Given the description of an element on the screen output the (x, y) to click on. 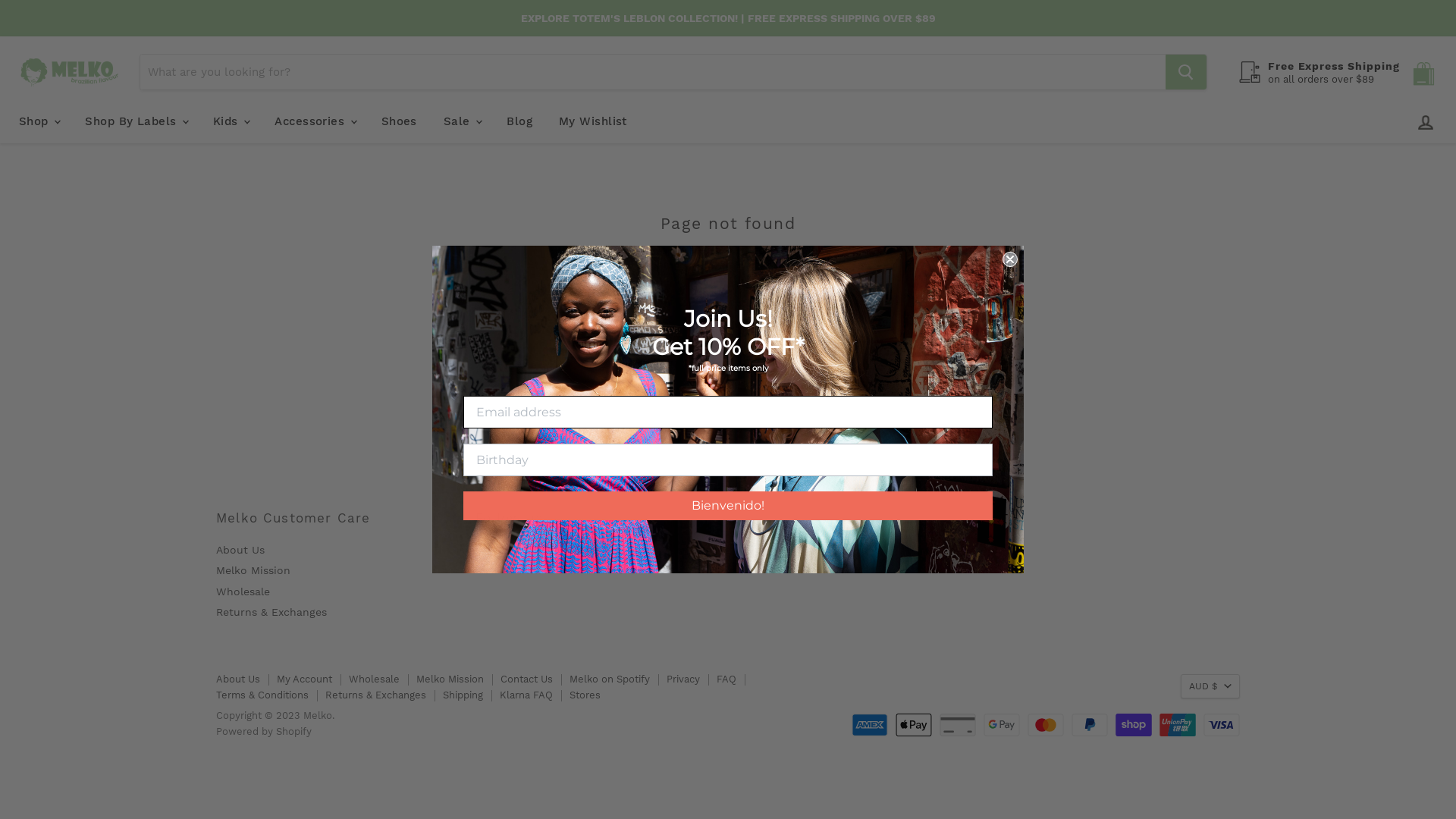
Find us on Instagram Element type: text (540, 547)
Wholesale Element type: text (242, 591)
Melko Mission Element type: text (253, 570)
Sale Element type: text (461, 121)
Submit Element type: text (25, 9)
My Account Element type: text (304, 678)
Returns & Exchanges Element type: text (271, 611)
Wholesale Element type: text (373, 678)
Shop By Labels Element type: text (135, 121)
About Us Element type: text (238, 678)
Terms & Conditions Element type: text (262, 694)
Returns & Exchanges Element type: text (375, 694)
Find us on LinkedIn Element type: text (594, 547)
Contact Us Element type: text (526, 678)
Stores Element type: text (584, 694)
Kids Element type: text (230, 121)
Find us on Pinterest Element type: text (513, 547)
Shoes Element type: text (399, 121)
About Us Element type: text (240, 549)
AUD $ Element type: text (1209, 686)
Powered by Shopify Element type: text (263, 731)
Shop Element type: text (38, 121)
Continue Shopping Element type: text (727, 295)
Klarna FAQ Element type: text (525, 694)
Find us on Vimeo Element type: text (567, 547)
FAQ Element type: text (726, 678)
Find us on Facebook Element type: text (485, 547)
Accessories Element type: text (314, 121)
Bienvenido! Element type: text (727, 505)
Blog Element type: text (519, 121)
Melko Mission Element type: text (449, 678)
Melko on Spotify Element type: text (609, 678)
Privacy Element type: text (682, 678)
My Wishlist Element type: text (592, 121)
Shipping Element type: text (462, 694)
